Given the description of an element on the screen output the (x, y) to click on. 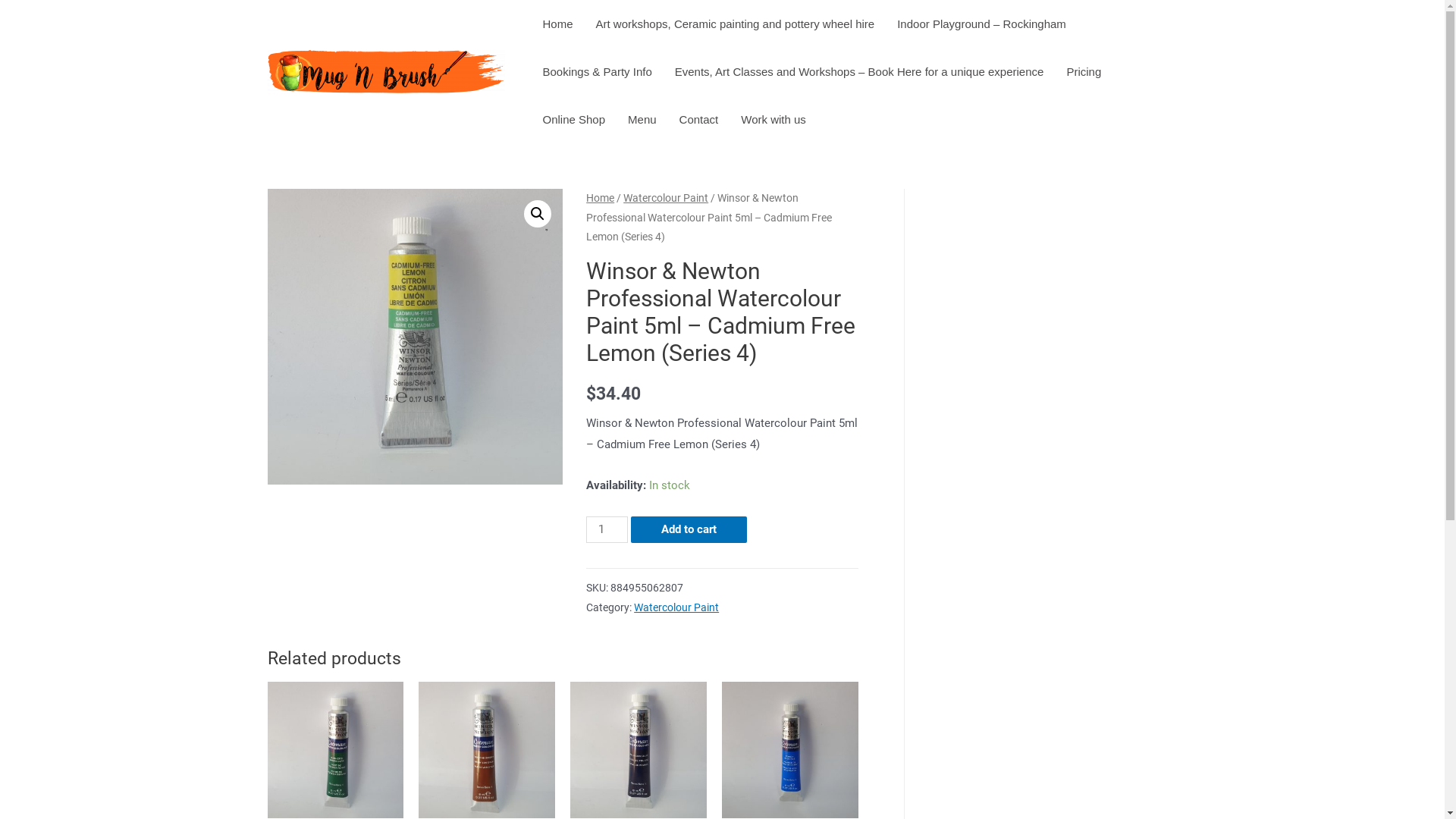
Online Shop Element type: text (573, 119)
cropped-coffee-logo-alternate-transparent.png - Mug 'n Brush Element type: hover (385, 71)
Watercolour Paint Element type: text (665, 197)
Pricing Element type: text (1083, 71)
Art workshops, Ceramic painting and pottery wheel hire Element type: text (735, 23)
Menu Element type: text (642, 119)
Work with us Element type: text (773, 119)
Bookings & Party Info Element type: text (596, 71)
Contact Element type: text (699, 119)
Add to cart Element type: text (688, 529)
Home Element type: text (600, 197)
Watercolour Paint Element type: text (675, 606)
Home Element type: text (556, 23)
